Given the description of an element on the screen output the (x, y) to click on. 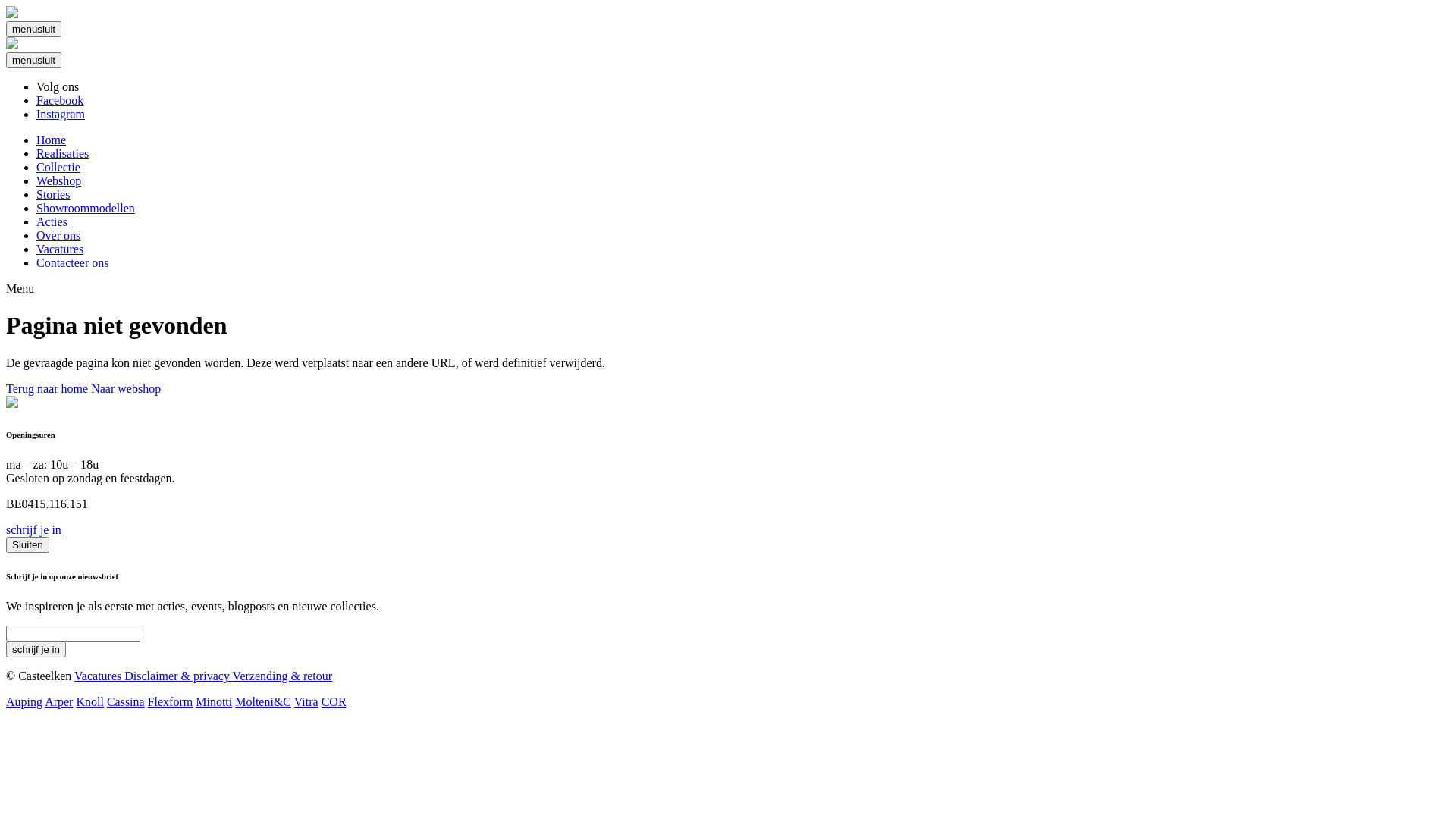
Home Element type: text (50, 139)
Vacatures Element type: text (99, 675)
Acties Element type: text (51, 221)
Cassina Element type: text (125, 701)
Minotti Element type: text (213, 701)
Sluiten Element type: text (27, 544)
menusluit Element type: text (33, 29)
Terug naar home Element type: text (48, 388)
Instagram Element type: text (60, 113)
Facebook Element type: text (59, 100)
Collectie Element type: text (58, 166)
Vitra Element type: text (306, 701)
Knoll Element type: text (89, 701)
schrijf je in Element type: text (33, 529)
Over ons Element type: text (58, 235)
Flexform Element type: text (170, 701)
Realisaties Element type: text (62, 153)
Vacatures Element type: text (59, 248)
Stories Element type: text (52, 194)
Showroommodellen Element type: text (85, 207)
Auping Element type: text (24, 701)
Molteni&C Element type: text (263, 701)
Naar webshop Element type: text (125, 388)
Webshop Element type: text (58, 180)
Arper Element type: text (58, 701)
Contacteer ons Element type: text (72, 262)
Disclaimer & privacy Element type: text (178, 675)
Verzending & retour Element type: text (282, 675)
COR Element type: text (333, 701)
menusluit Element type: text (33, 60)
Schrijf je in Element type: text (35, 649)
